Given the description of an element on the screen output the (x, y) to click on. 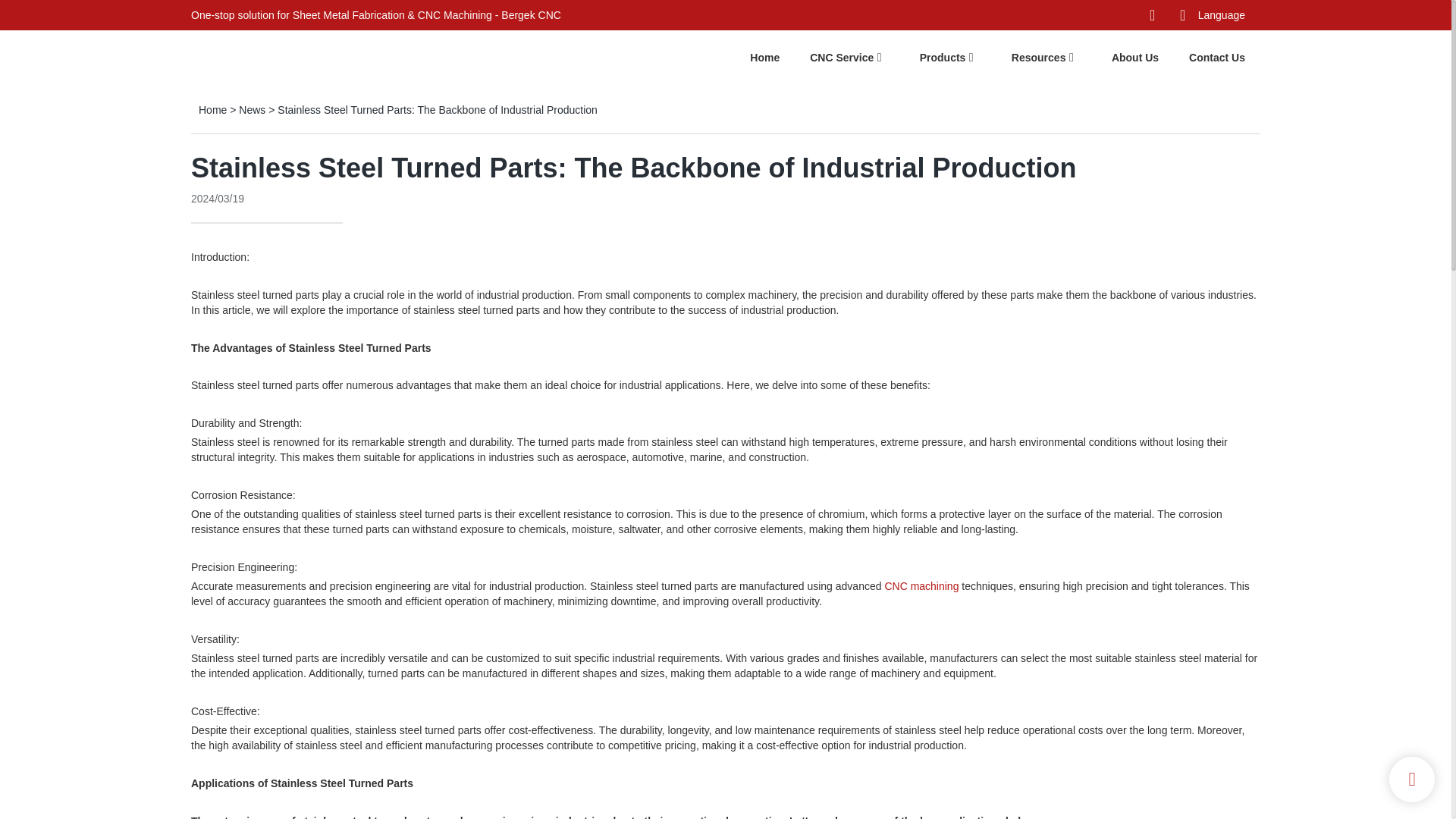
Home (763, 57)
Resources (1038, 57)
CNC machining (920, 585)
CNC Service (841, 57)
Products (943, 57)
